Given the description of an element on the screen output the (x, y) to click on. 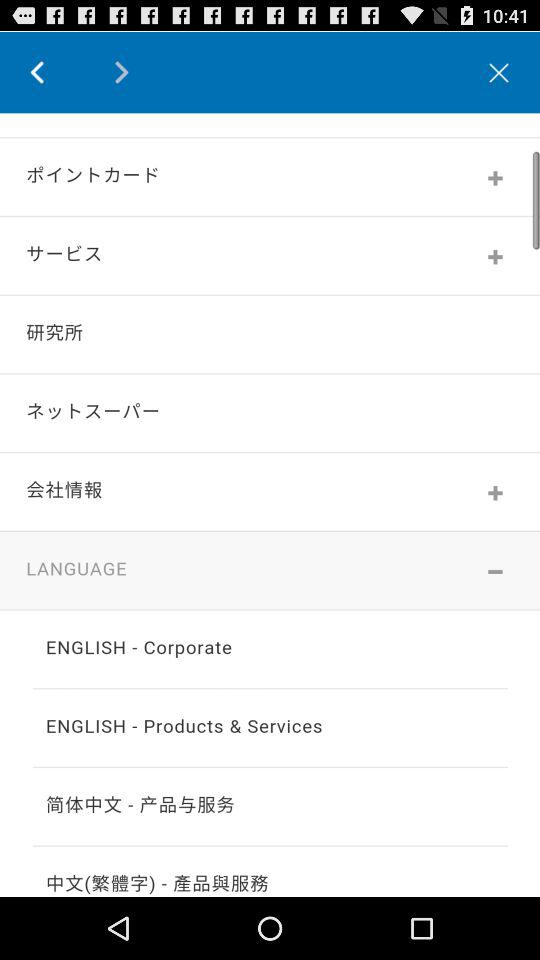
close (499, 71)
